Given the description of an element on the screen output the (x, y) to click on. 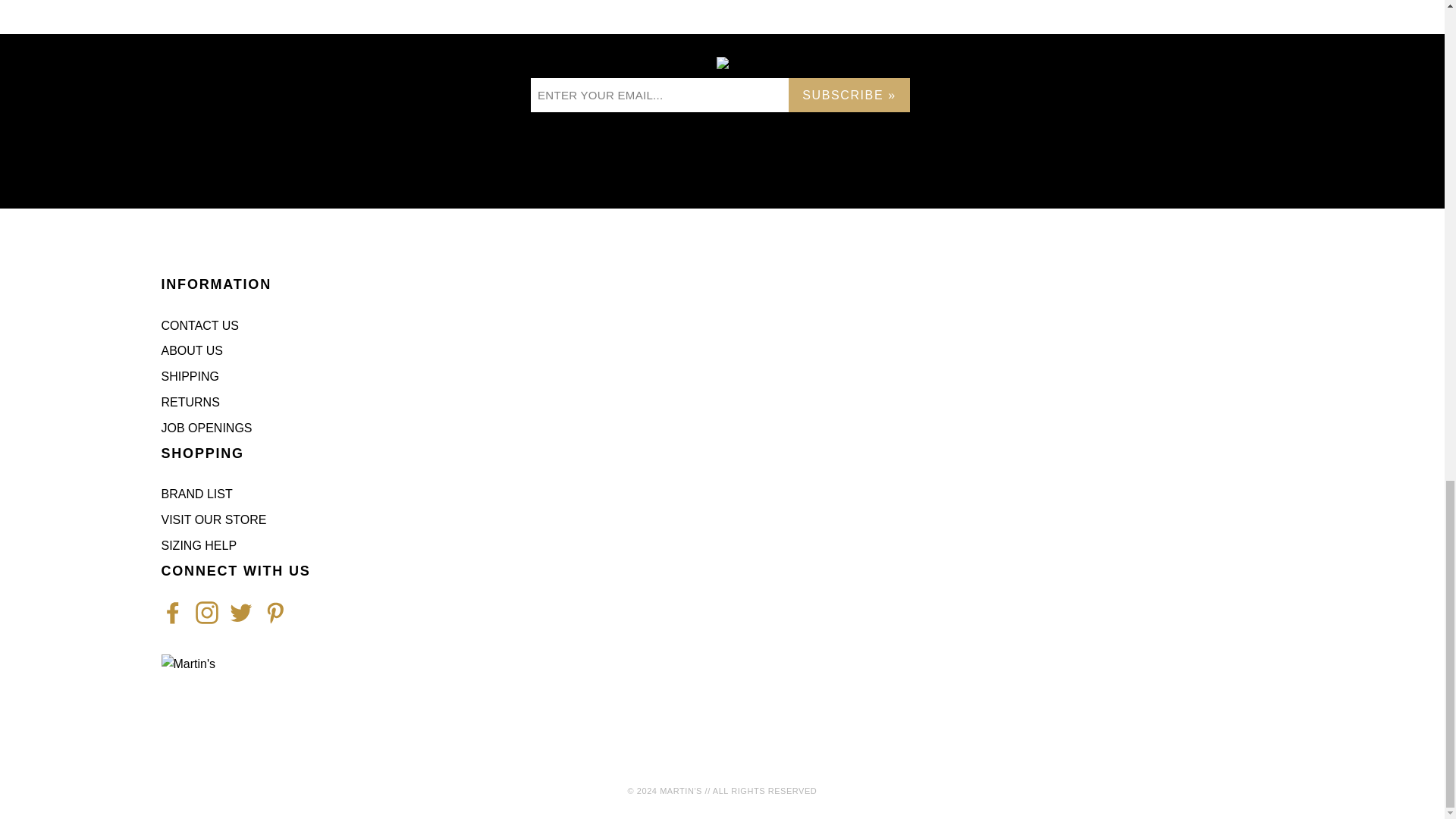
Martin's on Instagram (206, 612)
Martin's on Facebook (171, 612)
Martin's on Pinterest (274, 612)
Martin's on Twitter (239, 612)
